Given the description of an element on the screen output the (x, y) to click on. 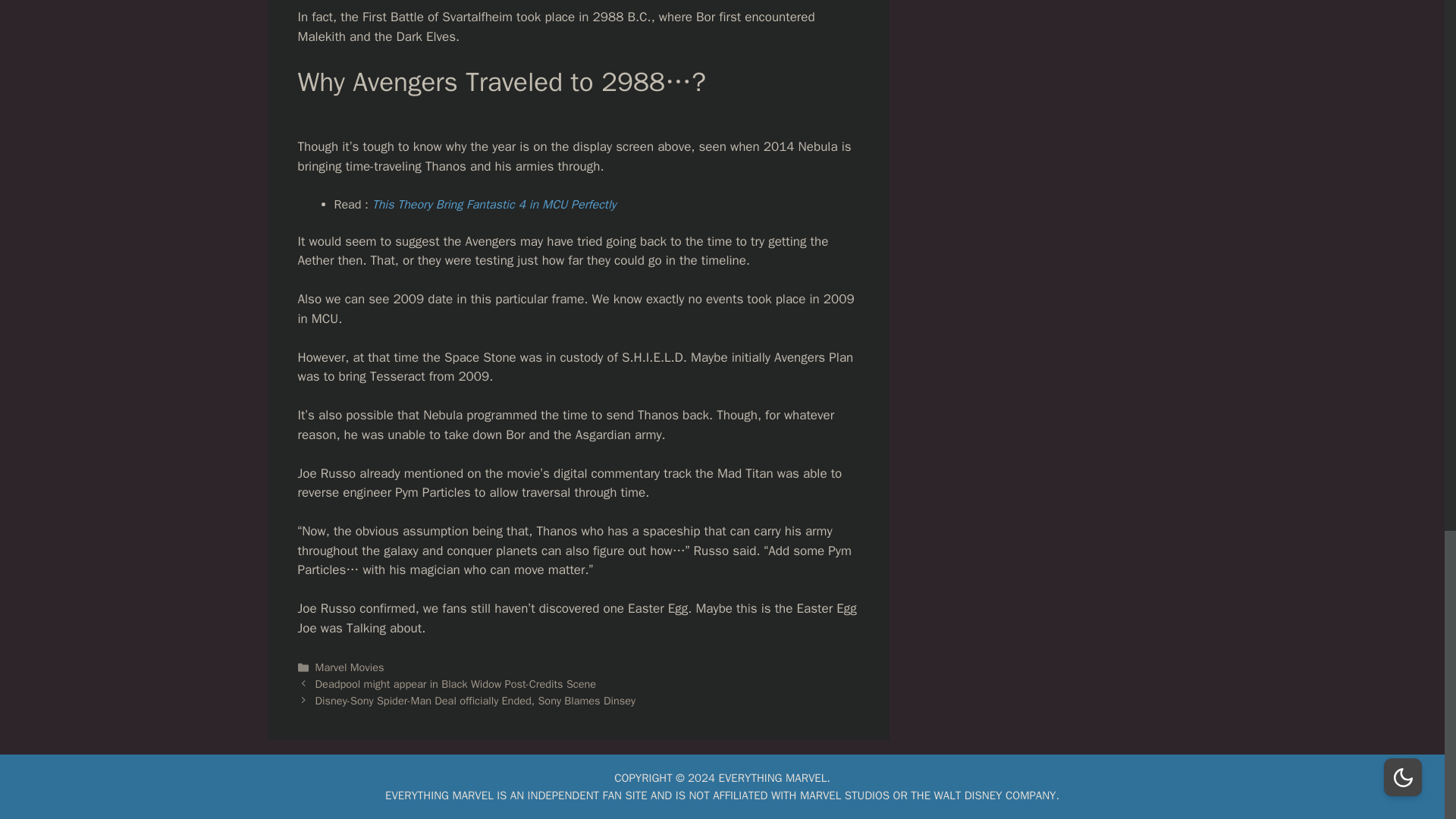
Deadpool might appear in Black Widow Post-Credits Scene (455, 684)
Previous (455, 684)
Next (474, 700)
This Theory Bring Fantastic 4 in MCU Perfectly (493, 204)
Marvel Movies (349, 667)
